Given the description of an element on the screen output the (x, y) to click on. 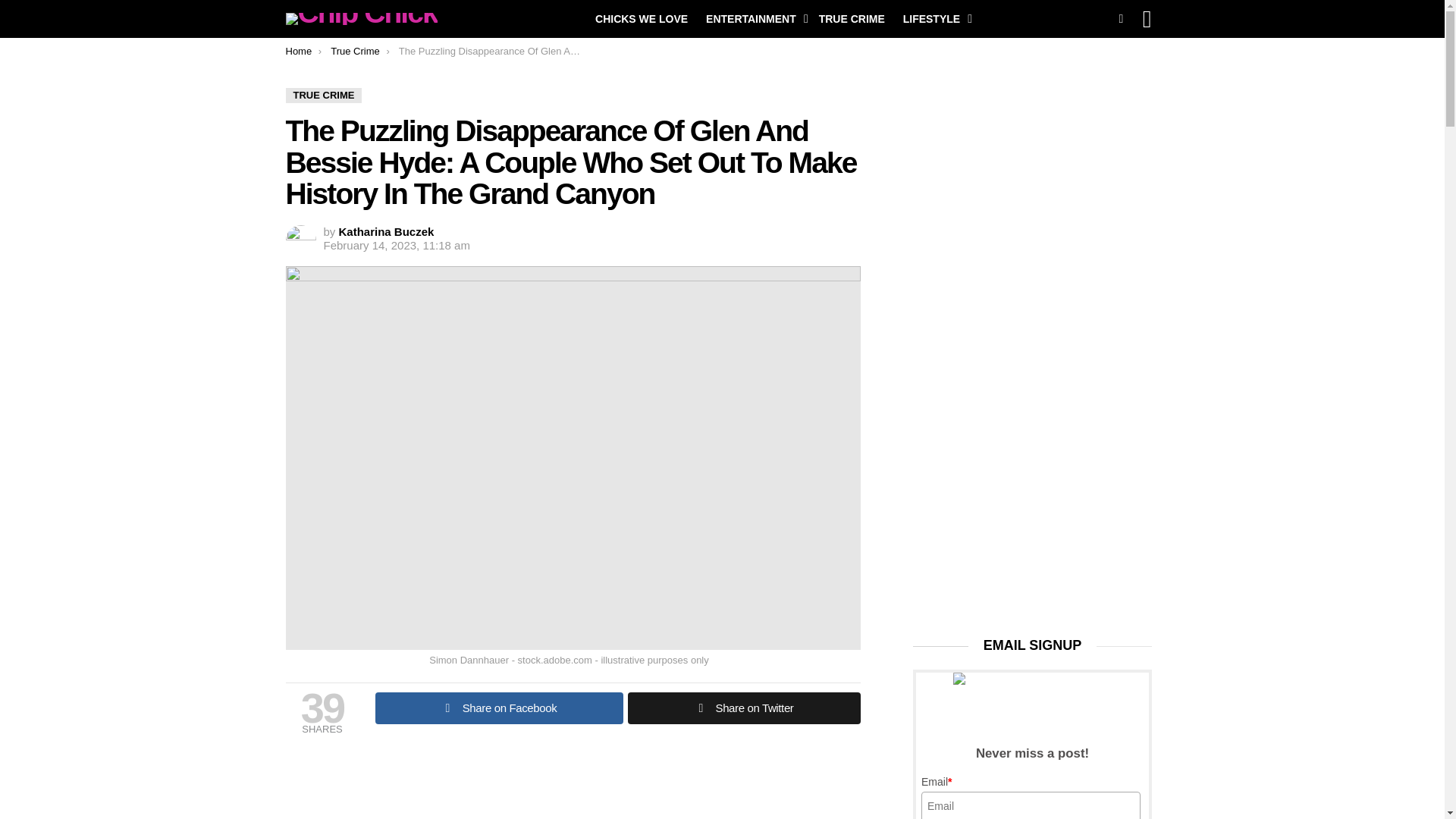
Email (1030, 805)
True Crime (355, 50)
Posts by Katharina Buczek (386, 231)
TRUE CRIME (323, 95)
Share on Facebook (498, 707)
ENTERTAINMENT (753, 18)
Katharina Buczek (386, 231)
Share on Twitter (743, 707)
CHICKS WE LOVE (641, 18)
TRUE CRIME (851, 18)
Home (298, 50)
LIFESTYLE (933, 18)
